Given the description of an element on the screen output the (x, y) to click on. 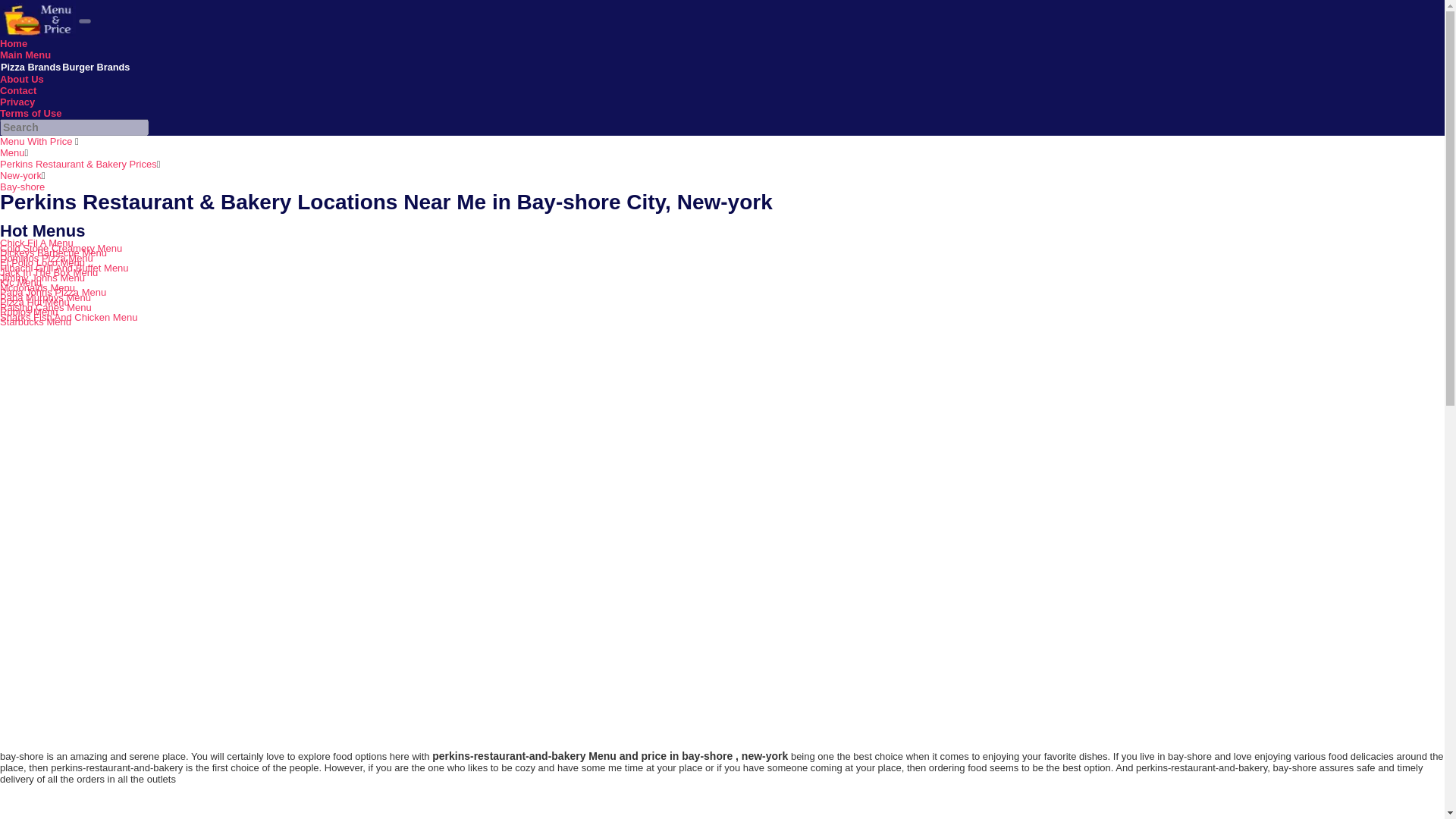
Burger Brands (96, 66)
Home (13, 43)
Jack In The Box Menu (48, 272)
El Pollo Loco Menu (42, 262)
Hibachi Grill And Buffet Menu (64, 267)
Main Menu (25, 54)
Privacy (17, 101)
Dickeys Barbecue Menu (53, 252)
Menu (12, 152)
